Given the description of an element on the screen output the (x, y) to click on. 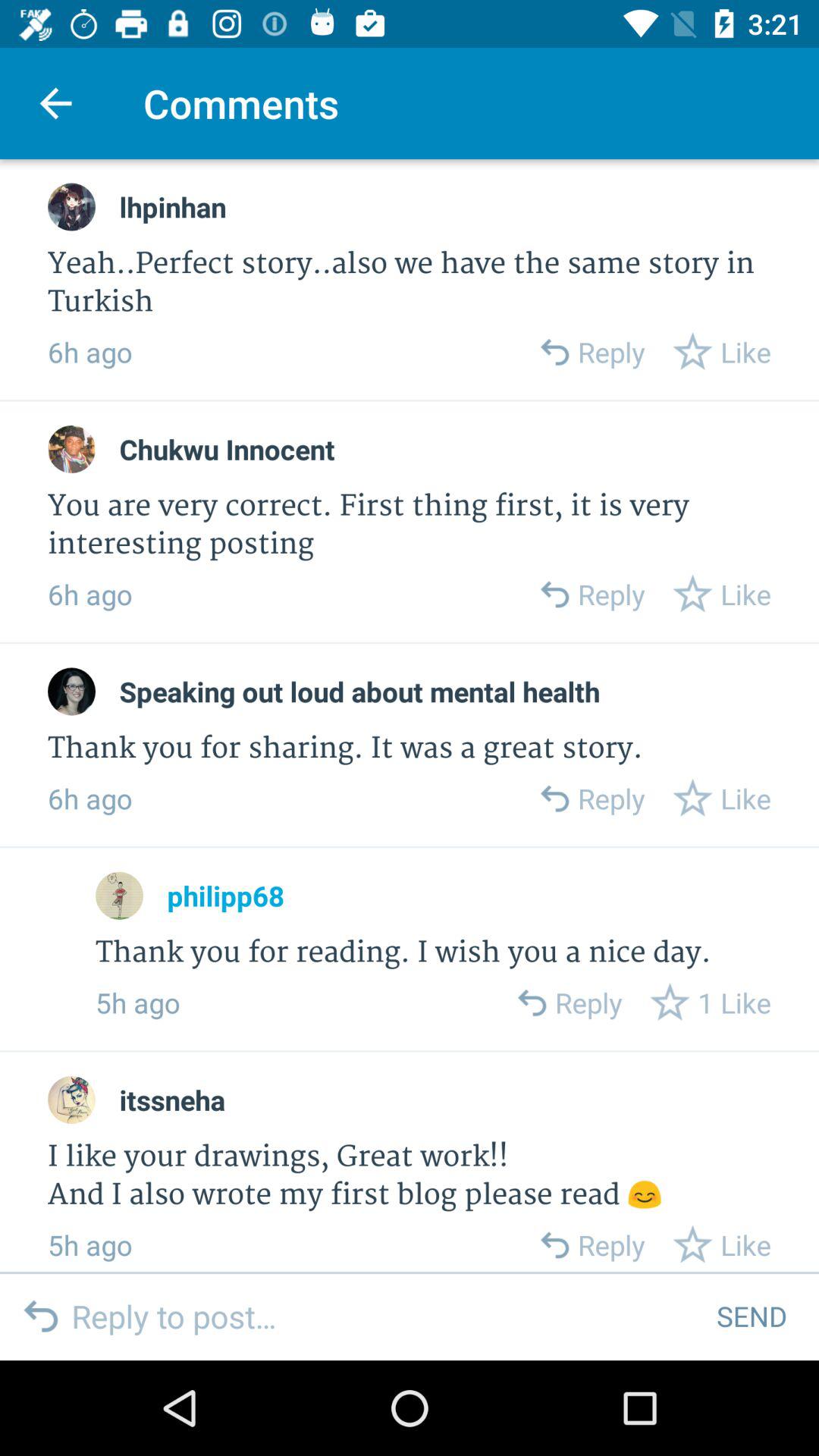
scroll to send item (751, 1315)
